Given the description of an element on the screen output the (x, y) to click on. 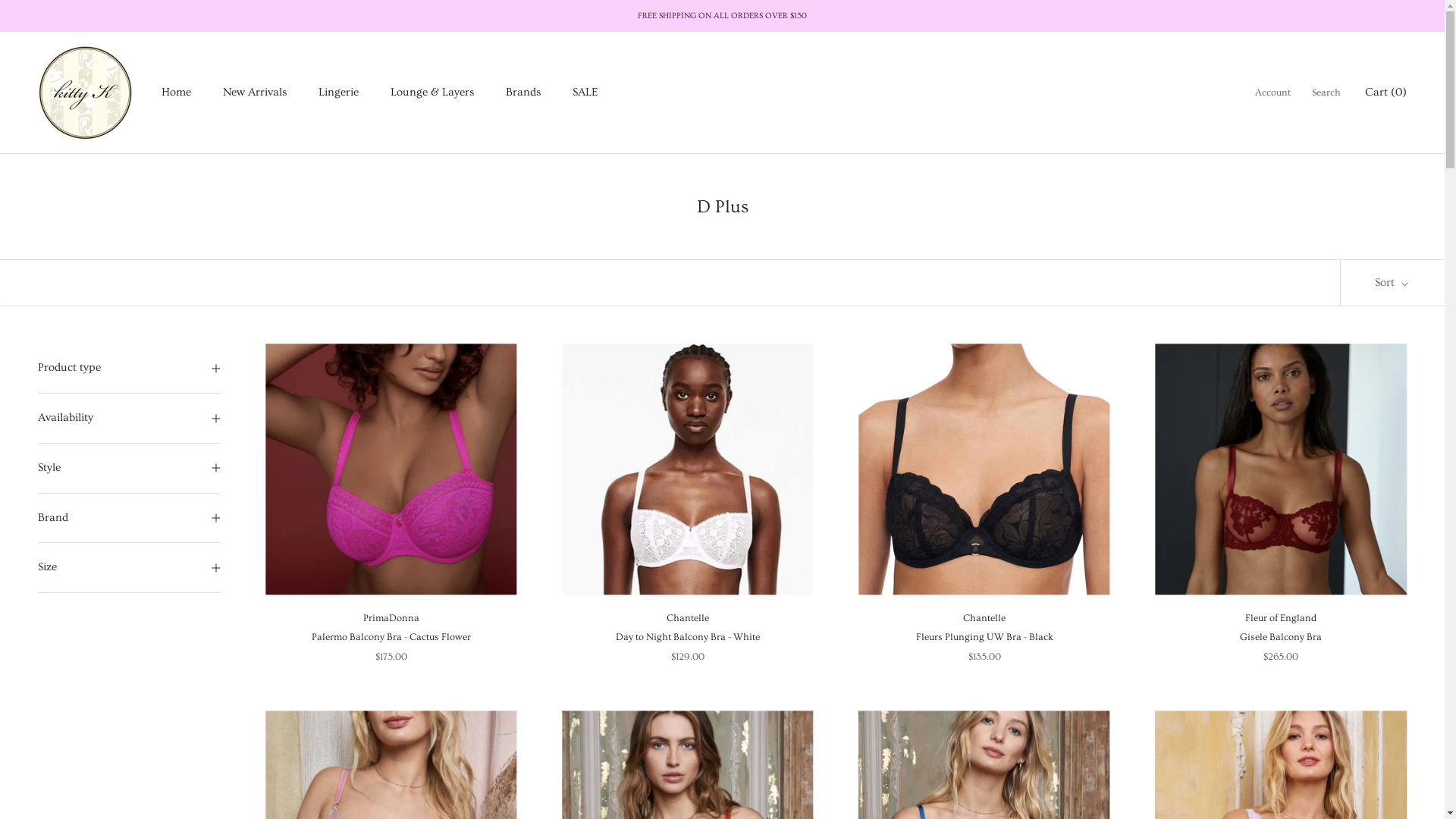
Size Element type: text (128, 567)
Brands Element type: text (522, 91)
SALE
SALE Element type: text (584, 91)
Search Element type: text (1325, 92)
Fleurs Plunging UW Bra - Black Element type: text (984, 636)
Home
Home Element type: text (176, 91)
Cart (0) Element type: text (1385, 91)
New Arrivals
New Arrivals Element type: text (254, 91)
Gisele Balcony Bra Element type: text (1280, 636)
Lingerie Element type: text (338, 91)
Availability Element type: text (128, 417)
Day to Night Balcony Bra - White Element type: text (687, 636)
Account Element type: text (1272, 92)
Lounge & Layers Element type: text (431, 91)
Sort Element type: text (1391, 283)
Brand Element type: text (128, 517)
Product type Element type: text (128, 367)
Style Element type: text (128, 467)
Palermo Balcony Bra - Cactus Flower Element type: text (390, 636)
